Given the description of an element on the screen output the (x, y) to click on. 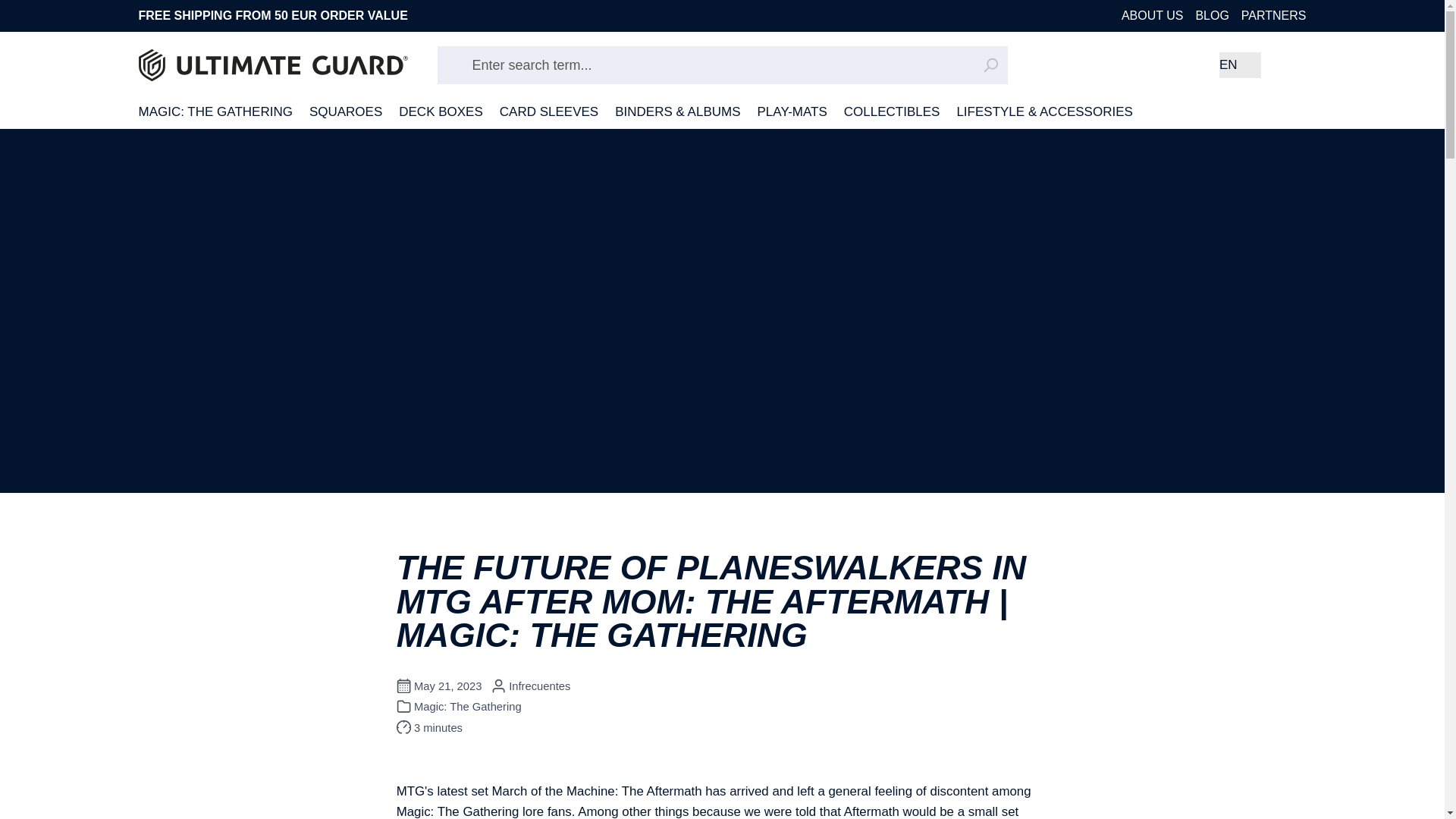
CARD SLEEVES (548, 111)
DECK BOXES (440, 111)
EN (1240, 64)
Blog (1211, 15)
BLOG (1211, 15)
SQUAROES (344, 111)
COLLECTIBLES (892, 111)
Partners (1273, 15)
PLAY-MATS (792, 111)
Go to homepage (272, 64)
